Given the description of an element on the screen output the (x, y) to click on. 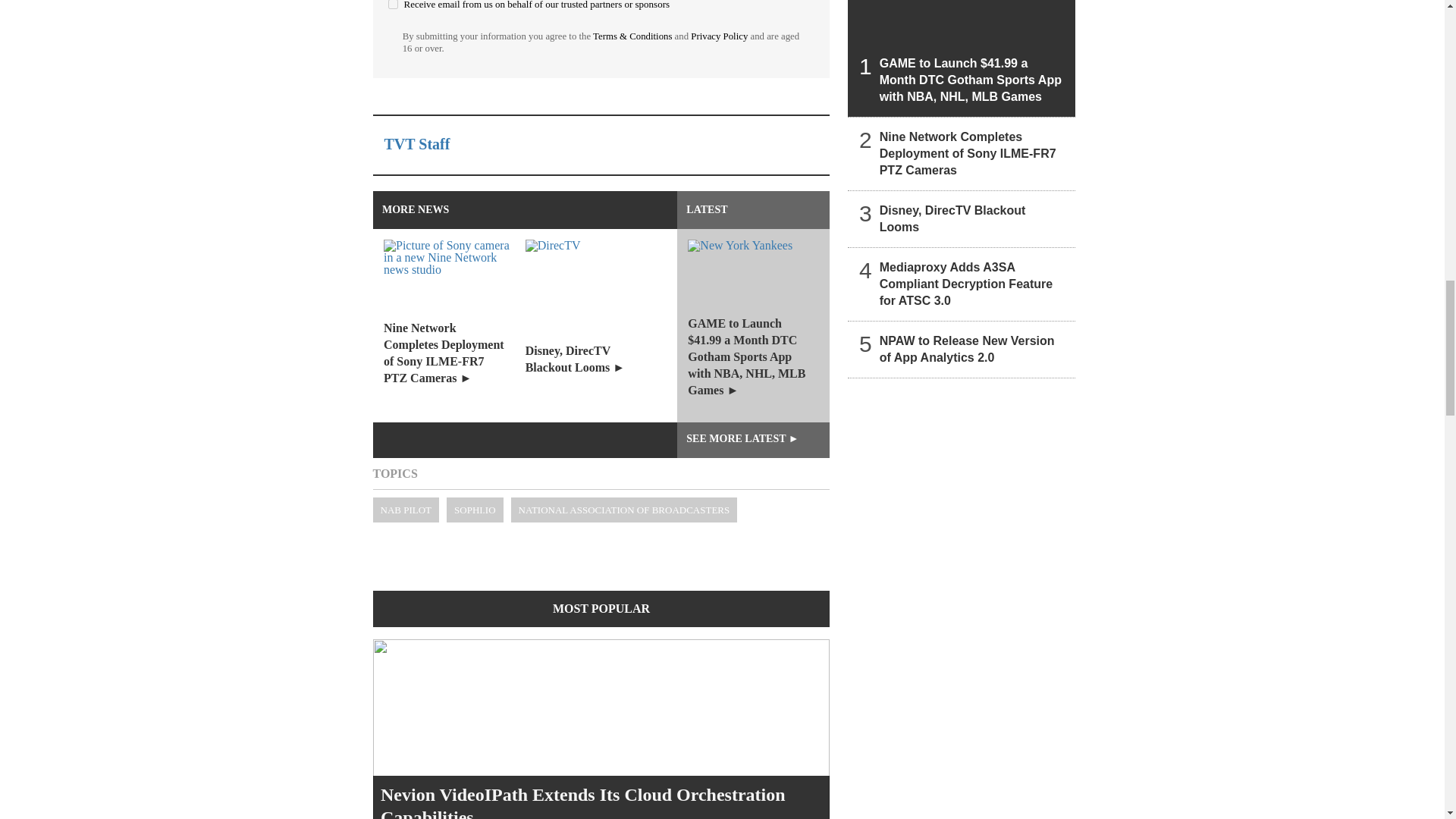
on (392, 4)
Privacy Policy (719, 36)
NAB PILOT (405, 509)
SOPHI.IO (474, 509)
NATIONAL ASSOCIATION OF BROADCASTERS (624, 509)
TVT Staff (416, 143)
